Given the description of an element on the screen output the (x, y) to click on. 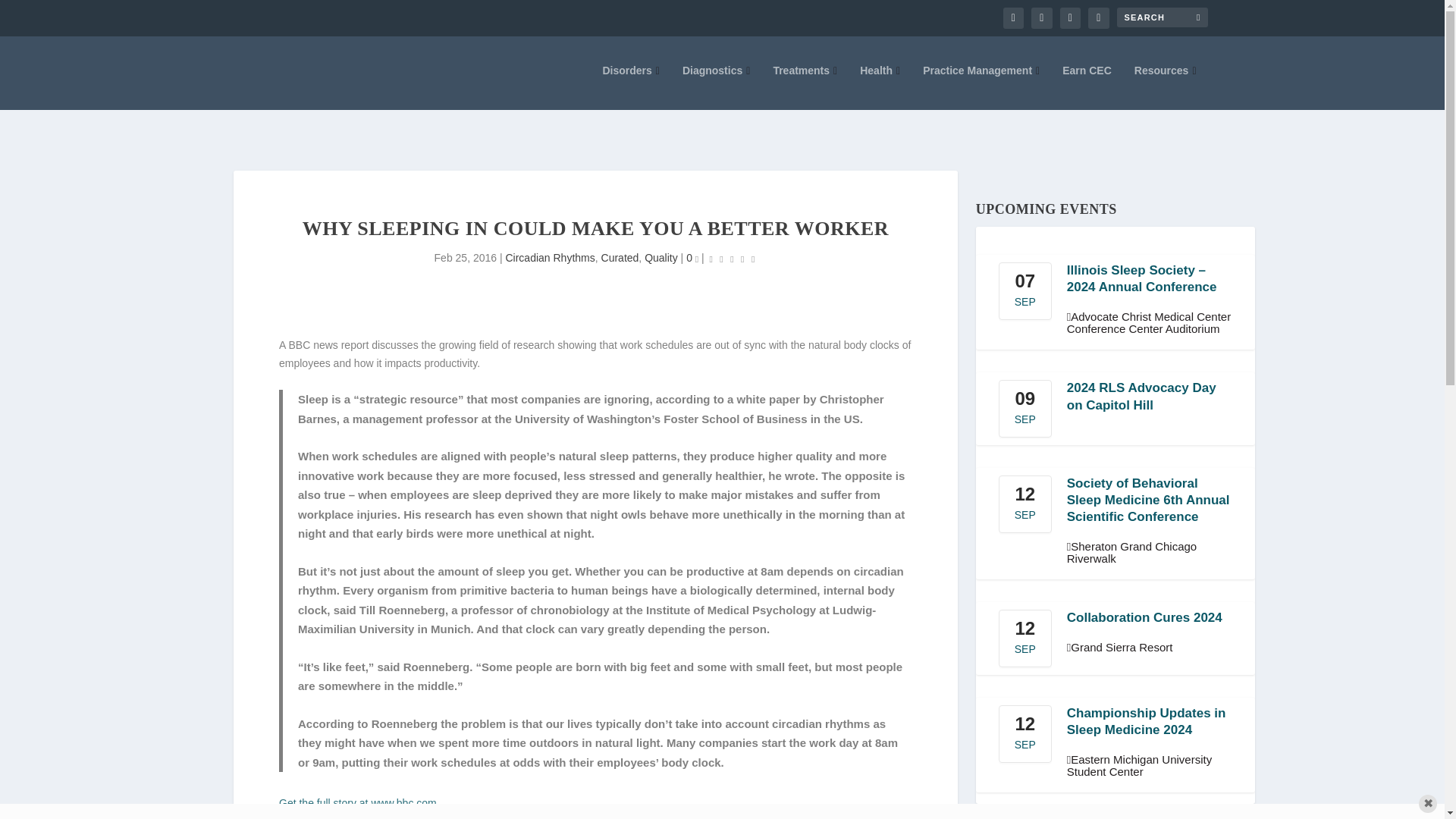
Treatments (805, 86)
Practice Management (981, 86)
Disorders (630, 86)
Resources (1165, 86)
Rating: 0.00 (732, 258)
Search for: (1161, 17)
Earn CEC (1087, 86)
Diagnostics (715, 86)
